Given the description of an element on the screen output the (x, y) to click on. 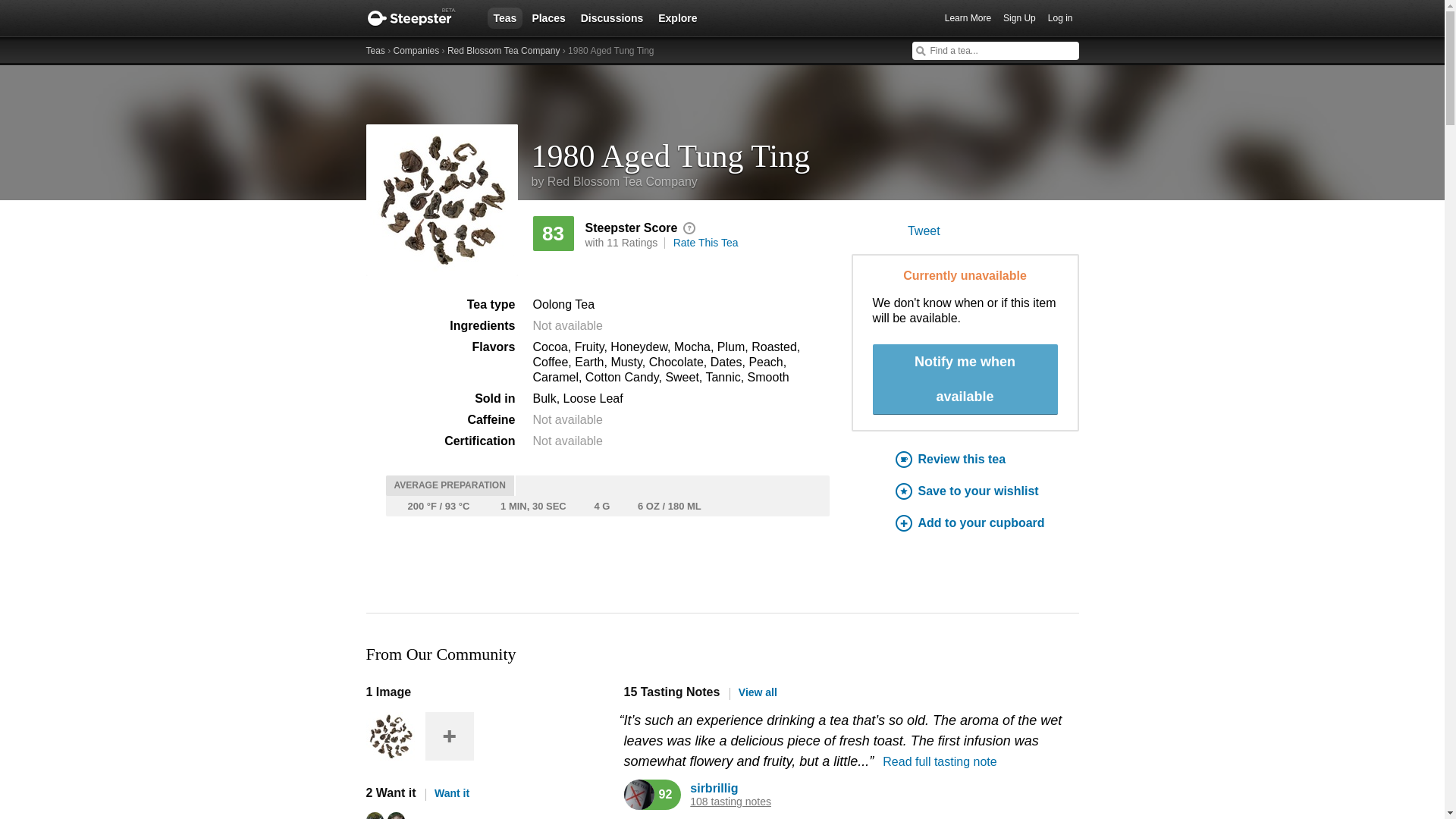
Red Blossom Tea Company (503, 50)
Save to your wishlist (986, 490)
Log in (1060, 18)
Add to your cupboard (986, 522)
Want it (446, 793)
Tweet (923, 230)
1980 Aged Tung Ting (804, 150)
Notify me when available (964, 378)
Learn More (968, 18)
Places (547, 17)
Explore (677, 17)
Steepster (418, 18)
Rate This Tea (705, 242)
Sign Up (1019, 18)
Teas (504, 17)
